Given the description of an element on the screen output the (x, y) to click on. 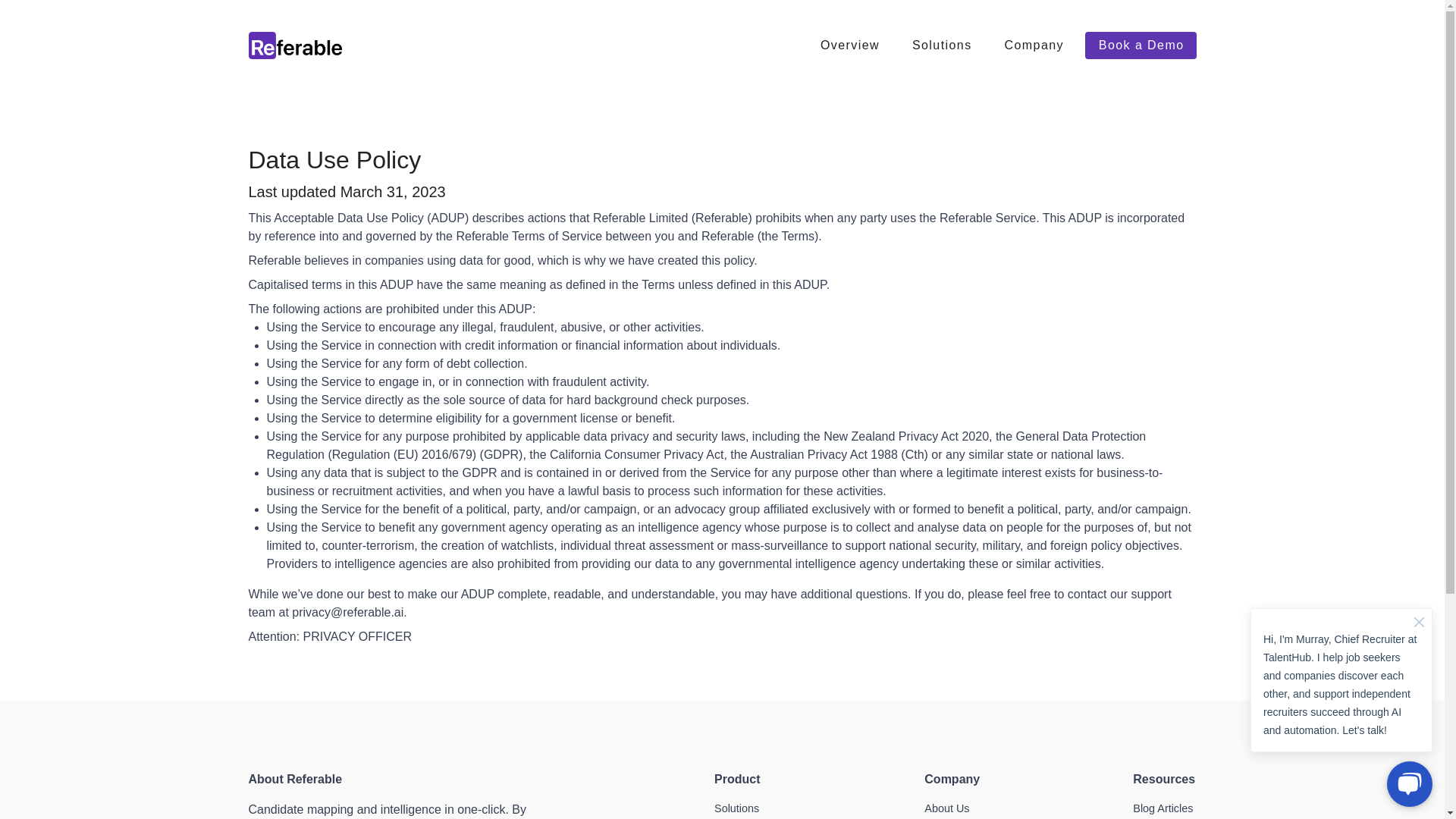
Solutions (736, 808)
About Us (946, 808)
Company (1033, 44)
Solutions (941, 44)
Book a Demo (1139, 44)
Overview (850, 44)
Blog Articles (1162, 808)
